Given the description of an element on the screen output the (x, y) to click on. 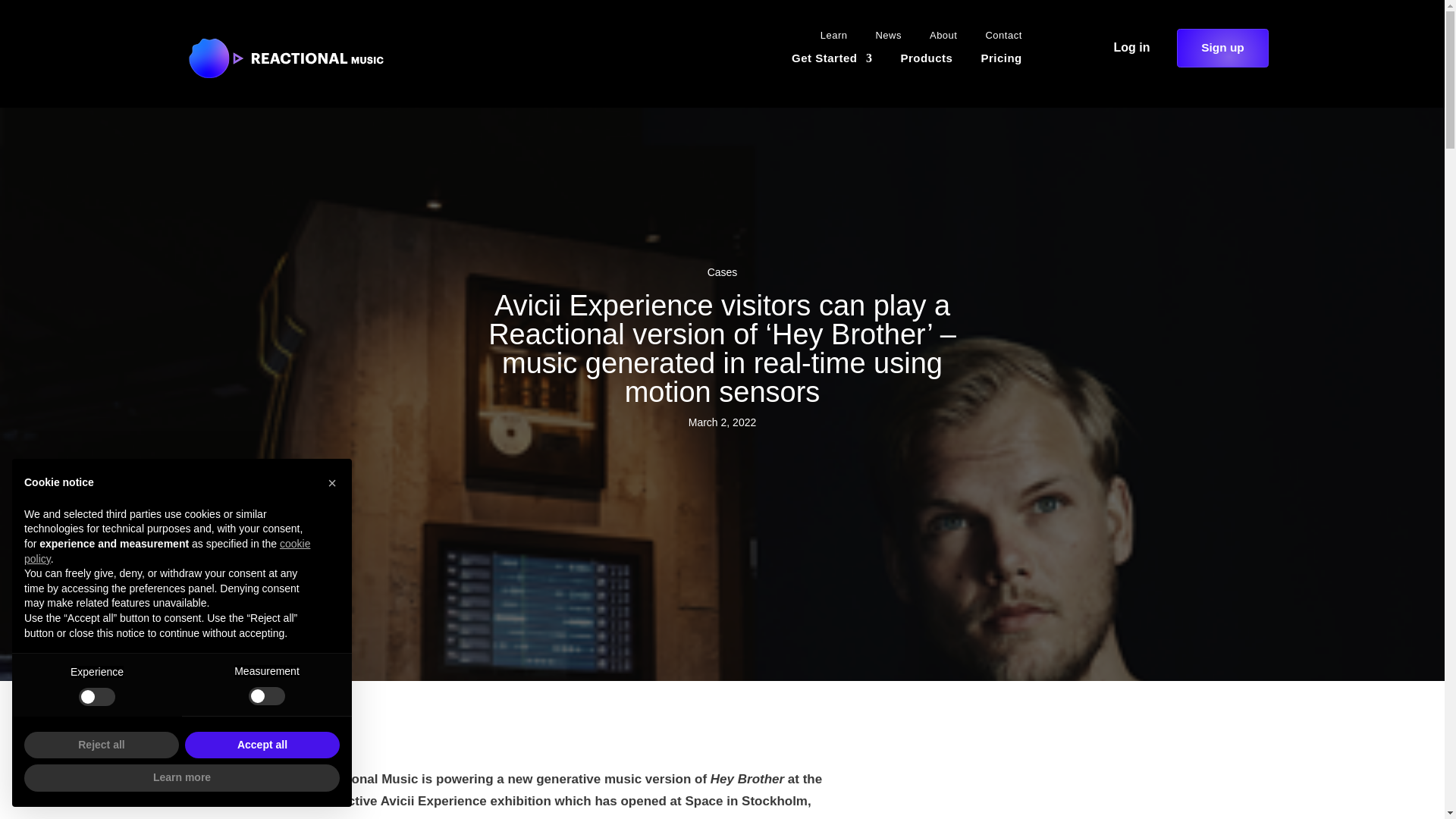
Log in (1131, 47)
Get Started (826, 61)
Log in (1131, 47)
Sign up (1222, 47)
false (96, 696)
About (937, 38)
false (266, 696)
Products (920, 61)
Sign up (1222, 47)
News (882, 38)
Contact (998, 38)
Pricing (995, 61)
Learn (828, 38)
